Given the description of an element on the screen output the (x, y) to click on. 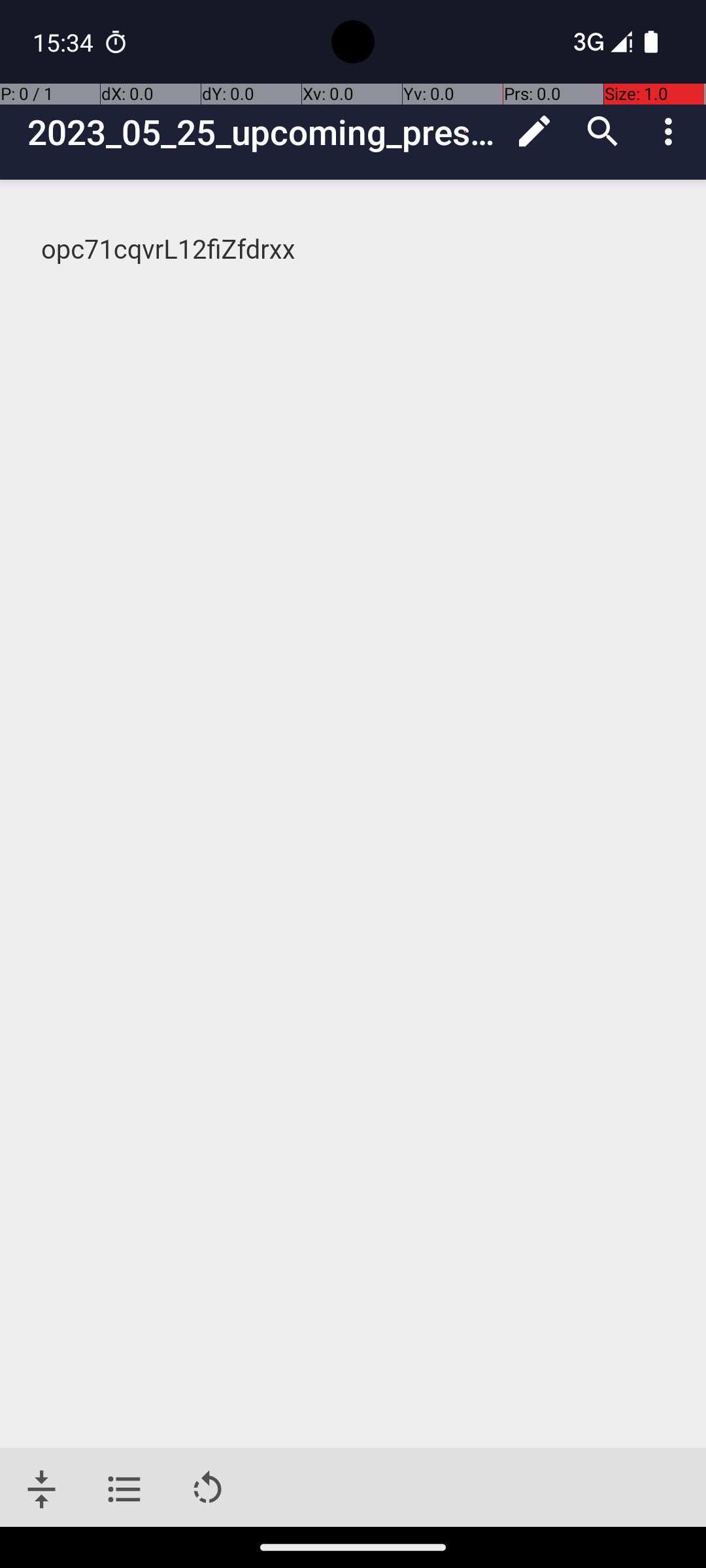
2023_05_25_upcoming_presentation_outline Element type: android.widget.TextView (263, 131)
opc71cqvrL12fiZfdrxx Element type: android.widget.TextView (354, 249)
